Given the description of an element on the screen output the (x, y) to click on. 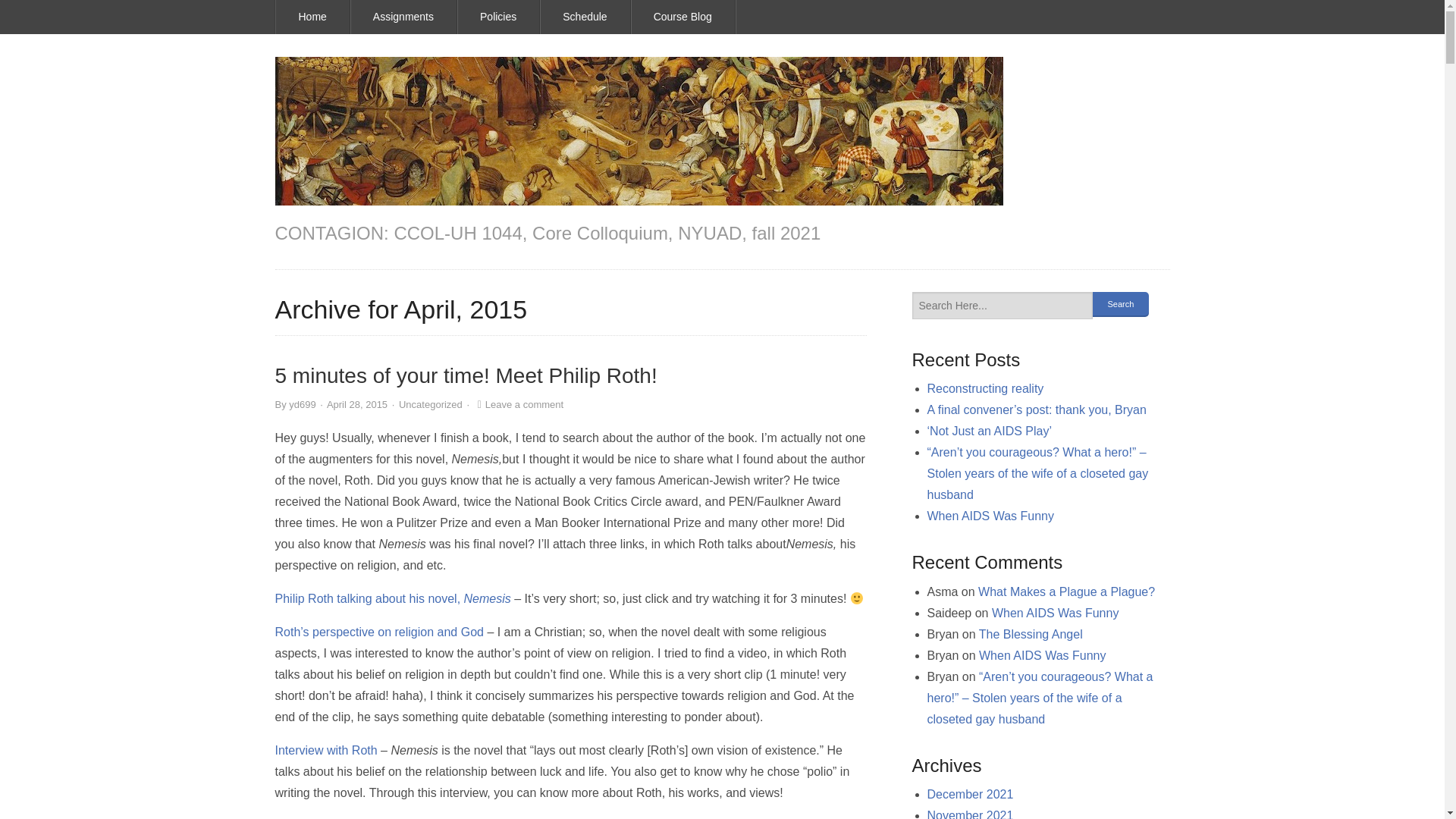
Assignments (403, 17)
Philip Roth talking about his novel, Nemesis (393, 598)
Interview with Roth (326, 749)
Contagion (639, 130)
Home (313, 17)
Permanent Link to 5 minutes of your time! Meet Philip Roth! (465, 375)
Policies (498, 17)
Course Blog (682, 17)
Search (1120, 303)
Leave a comment (518, 404)
